Given the description of an element on the screen output the (x, y) to click on. 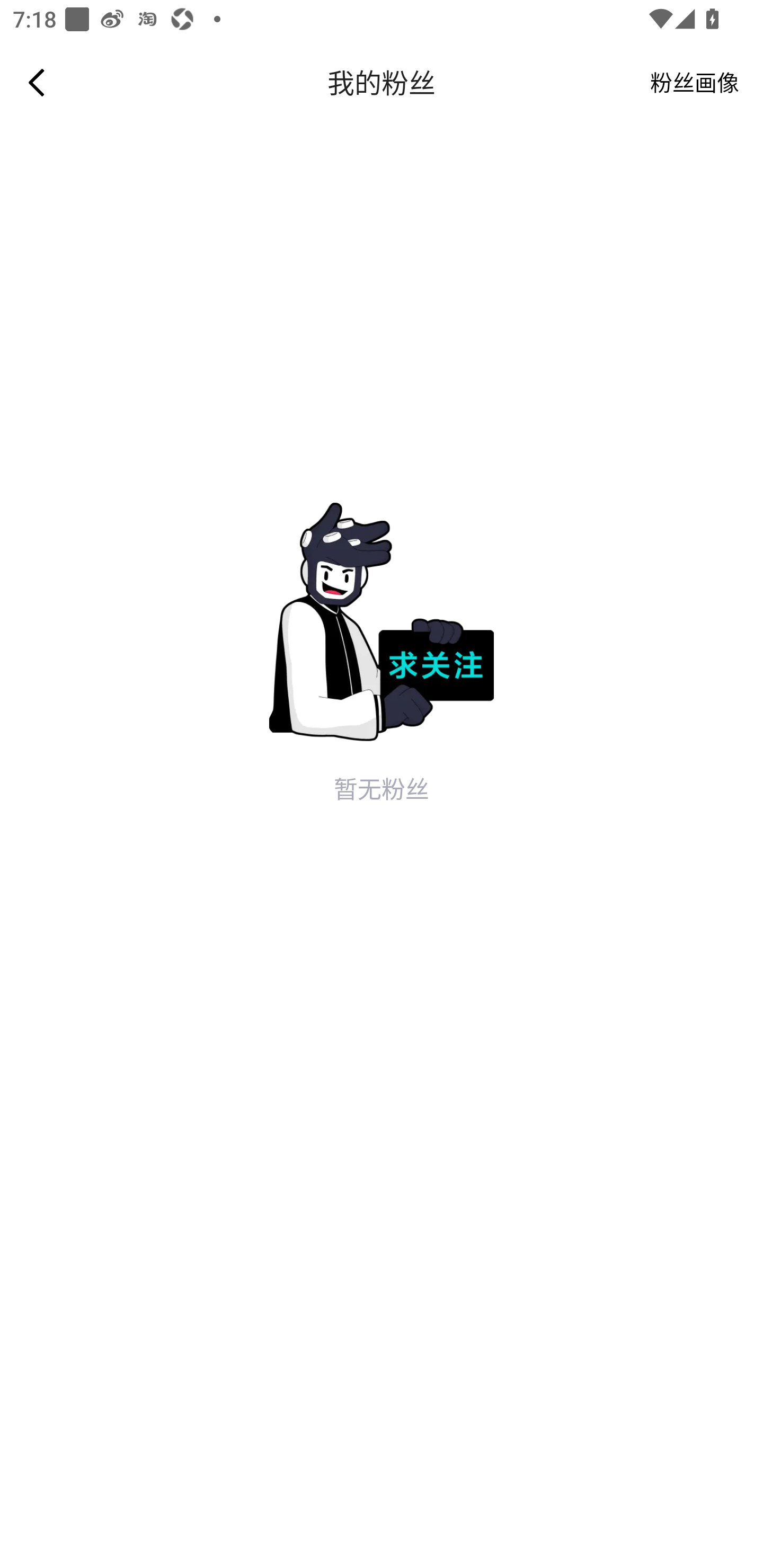
Navigate up (36, 82)
粉丝画像 (694, 82)
